Given the description of an element on the screen output the (x, y) to click on. 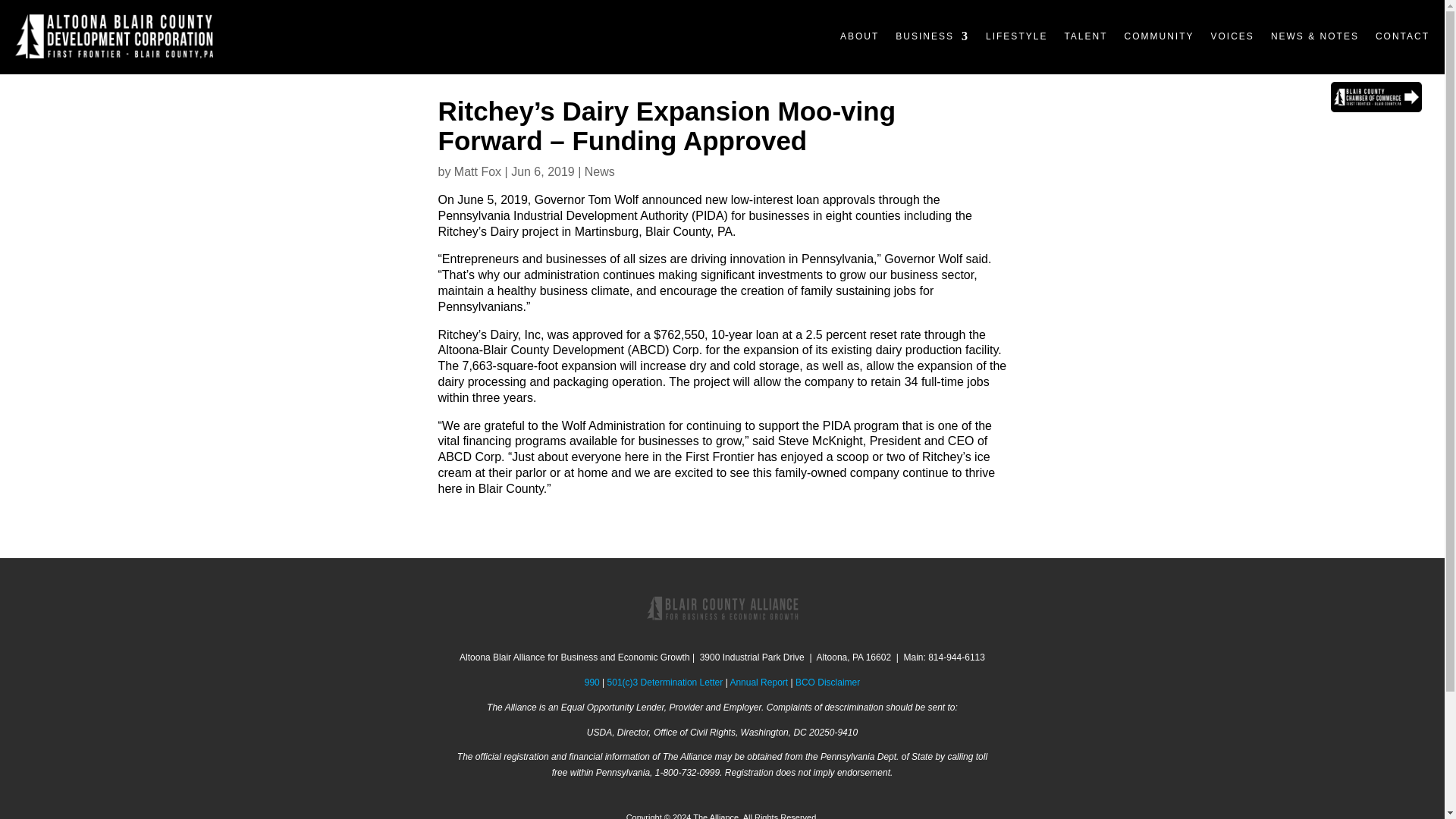
Matt Fox (477, 171)
LIFESTYLE (1015, 36)
COMMUNITY (1158, 36)
TALENT (1085, 36)
News (599, 171)
CONTACT (1402, 36)
990 (592, 682)
VOICES (1232, 36)
Annual Report (758, 682)
BCO Disclaimer (827, 682)
BUSINESS (932, 36)
ABOUT (859, 36)
